Given the description of an element on the screen output the (x, y) to click on. 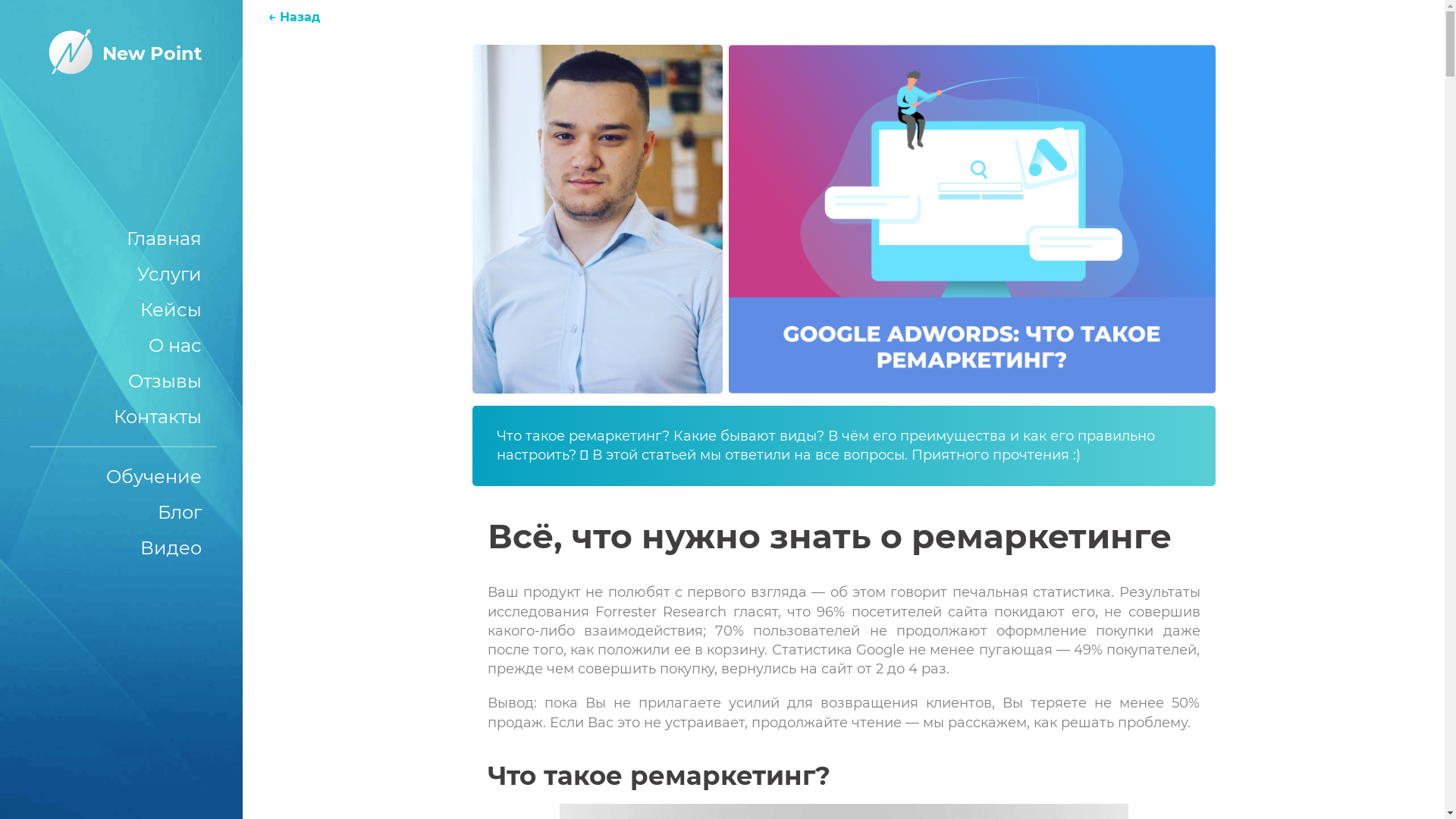
New Point Element type: text (121, 53)
